Given the description of an element on the screen output the (x, y) to click on. 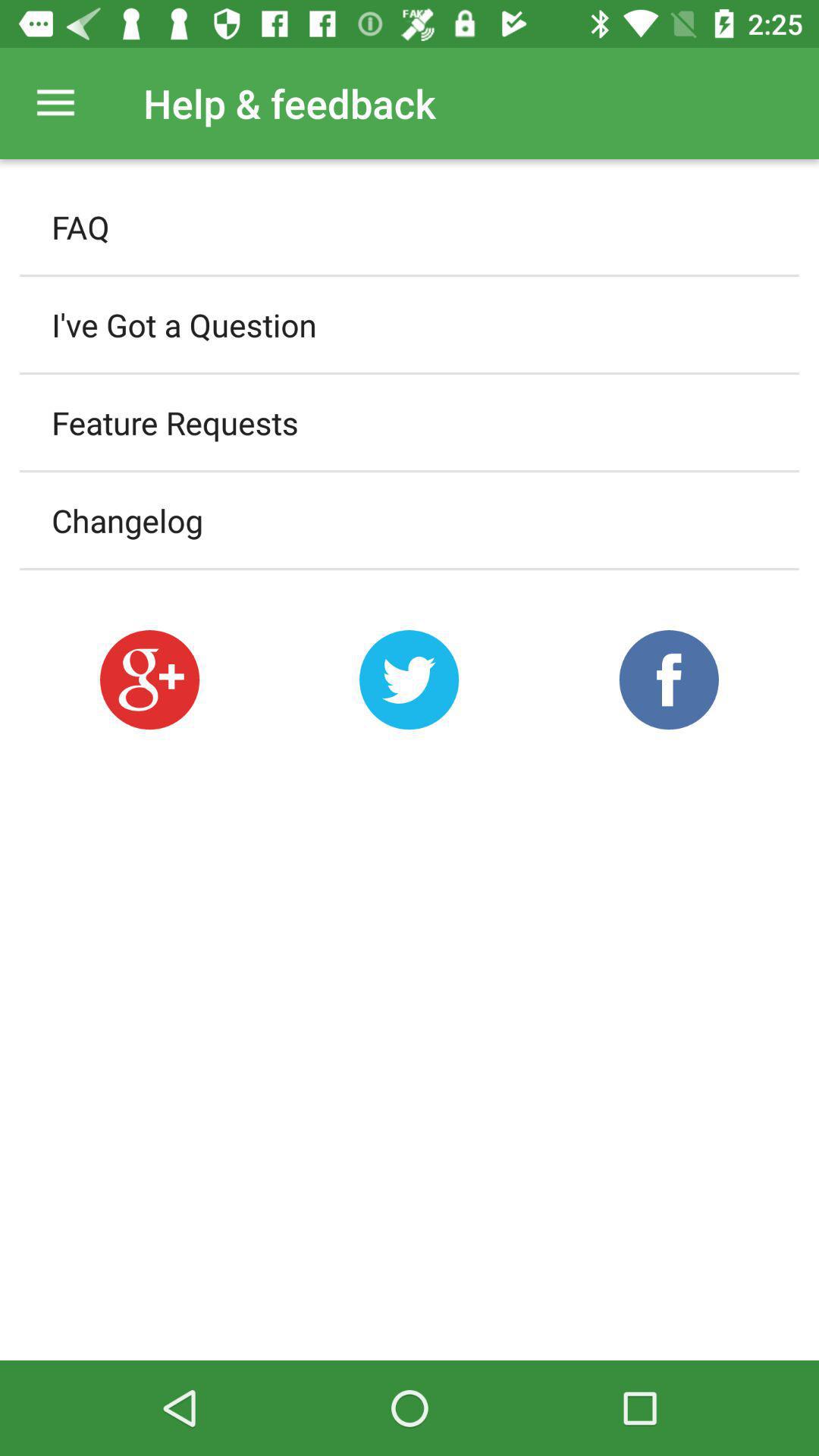
open i ve got (409, 324)
